Given the description of an element on the screen output the (x, y) to click on. 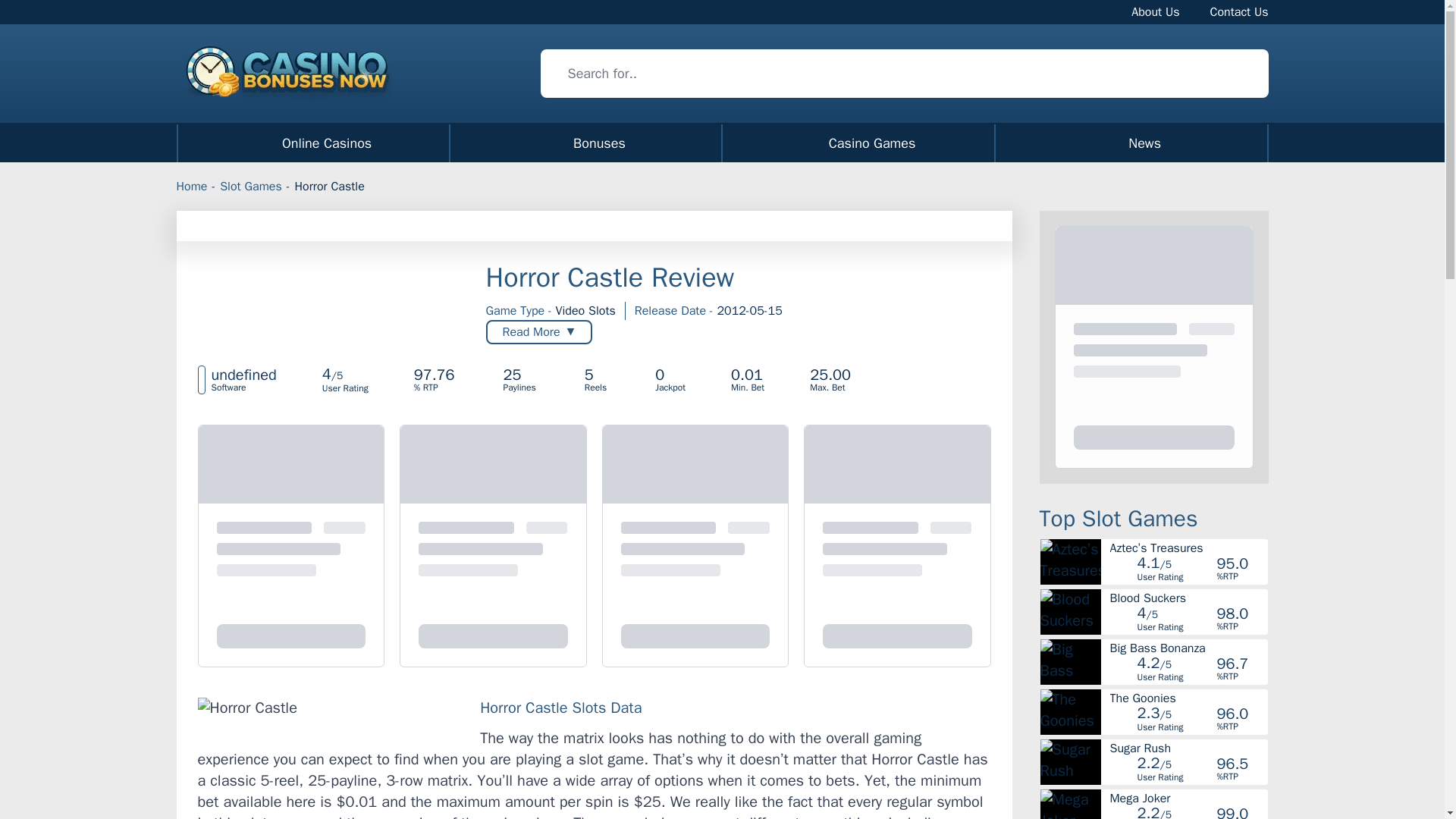
Contact Us (1238, 11)
The Goonies (1187, 698)
About Us (1155, 11)
Sugar Rush (1187, 748)
Big Bass Bonanza (721, 142)
Blood Suckers (1187, 648)
Mega Joker (1187, 598)
